Given the description of an element on the screen output the (x, y) to click on. 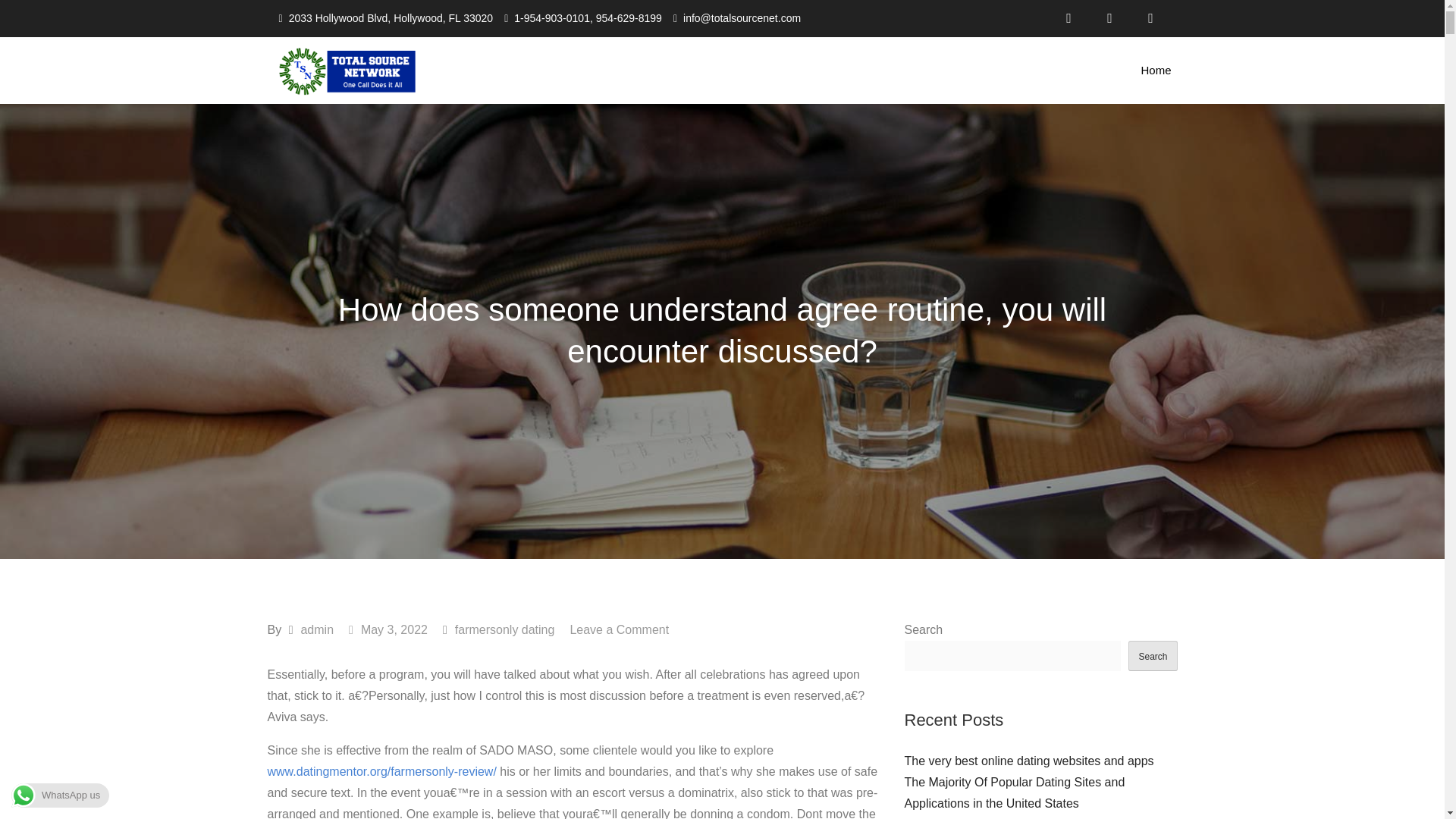
Total Source Network (550, 85)
1-954-903-0101, 954-629-8199 (587, 18)
